Given the description of an element on the screen output the (x, y) to click on. 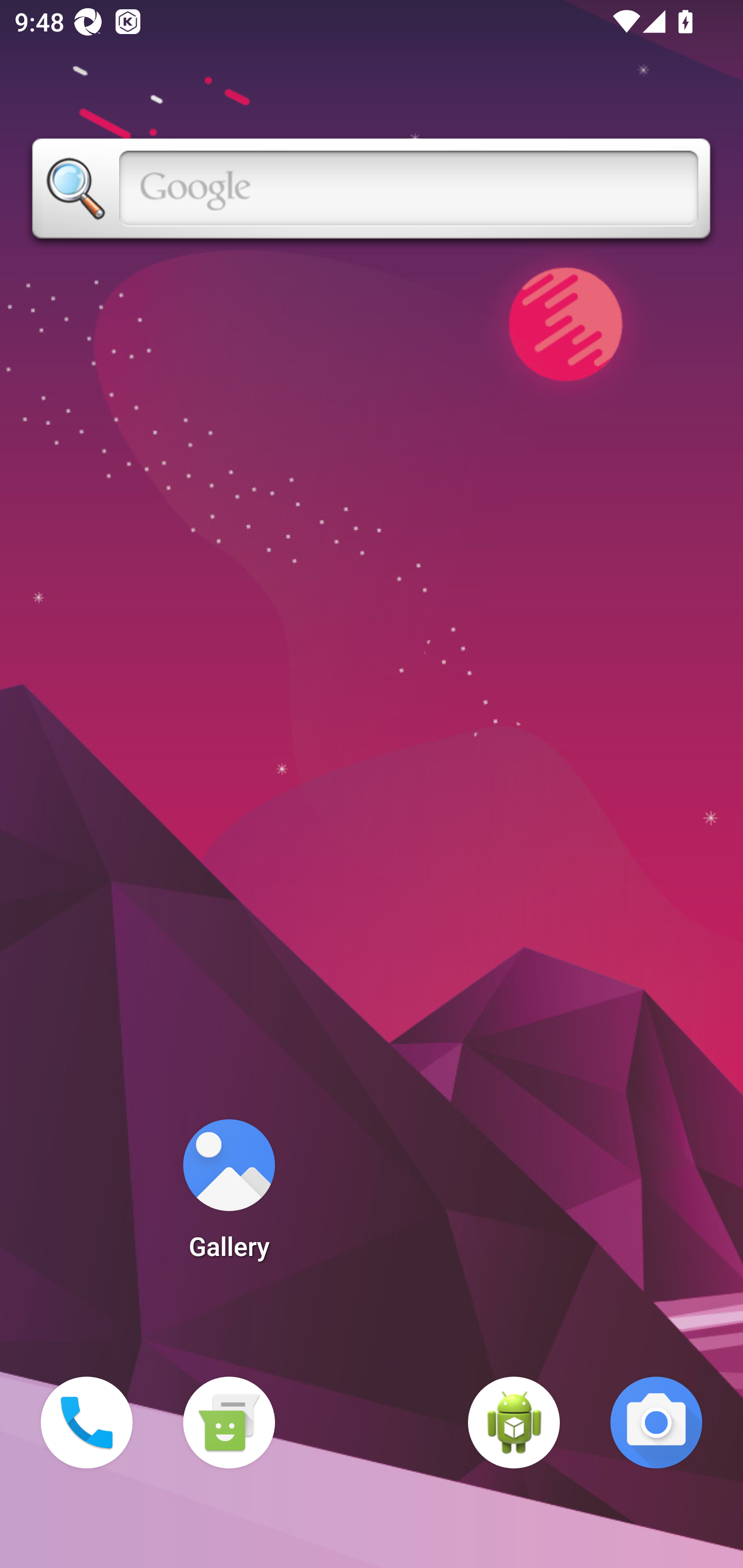
Gallery (228, 1195)
Phone (86, 1422)
Messaging (228, 1422)
WebView Browser Tester (513, 1422)
Camera (656, 1422)
